Given the description of an element on the screen output the (x, y) to click on. 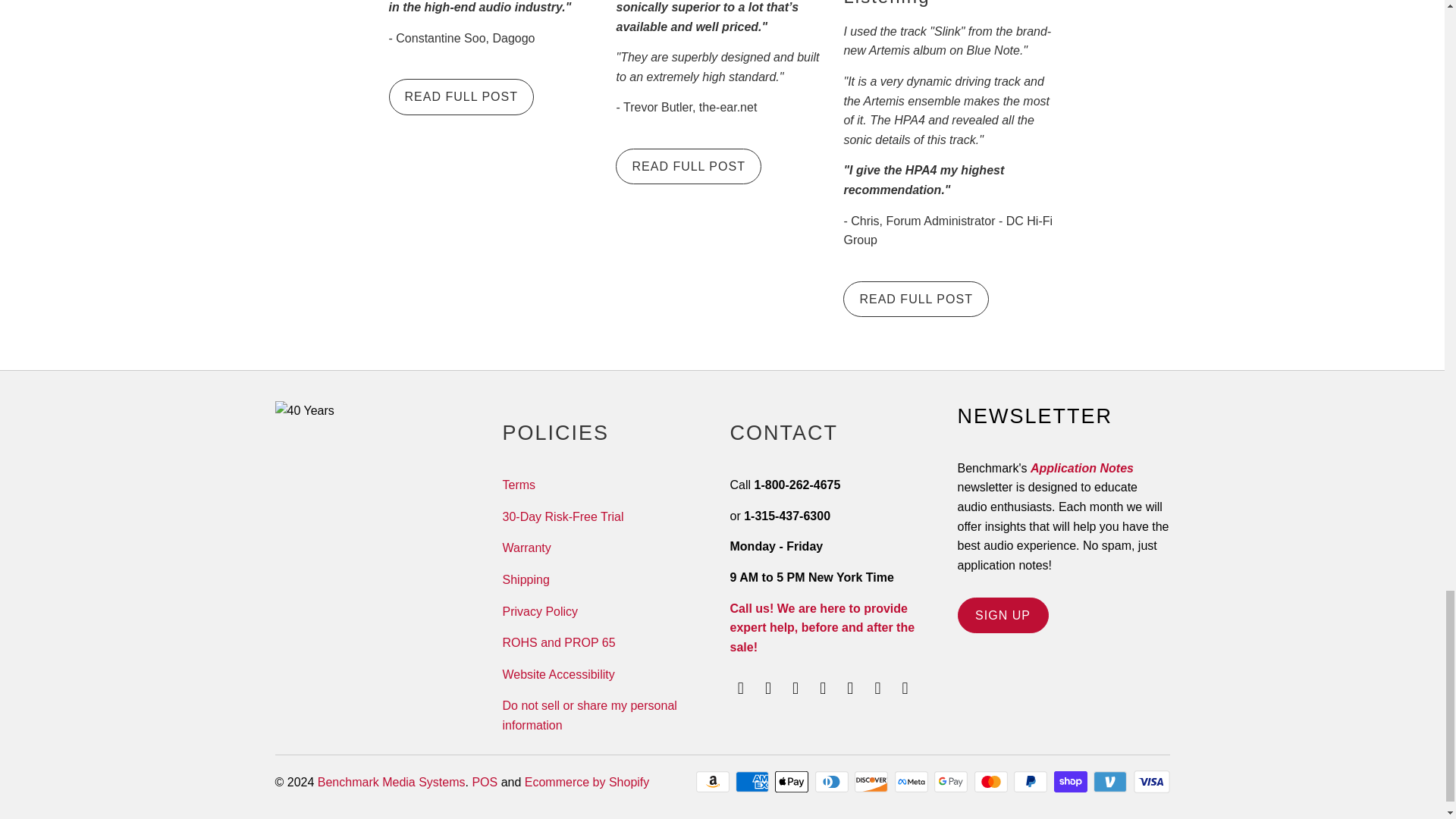
Google Pay (952, 781)
Amazon (713, 781)
Meta Pay (913, 781)
Sign Up (1002, 615)
Diners Club (833, 781)
Apple Pay (792, 781)
American Express (753, 781)
Shop Pay (1072, 781)
Visa (1150, 781)
Discover (872, 781)
